Given the description of an element on the screen output the (x, y) to click on. 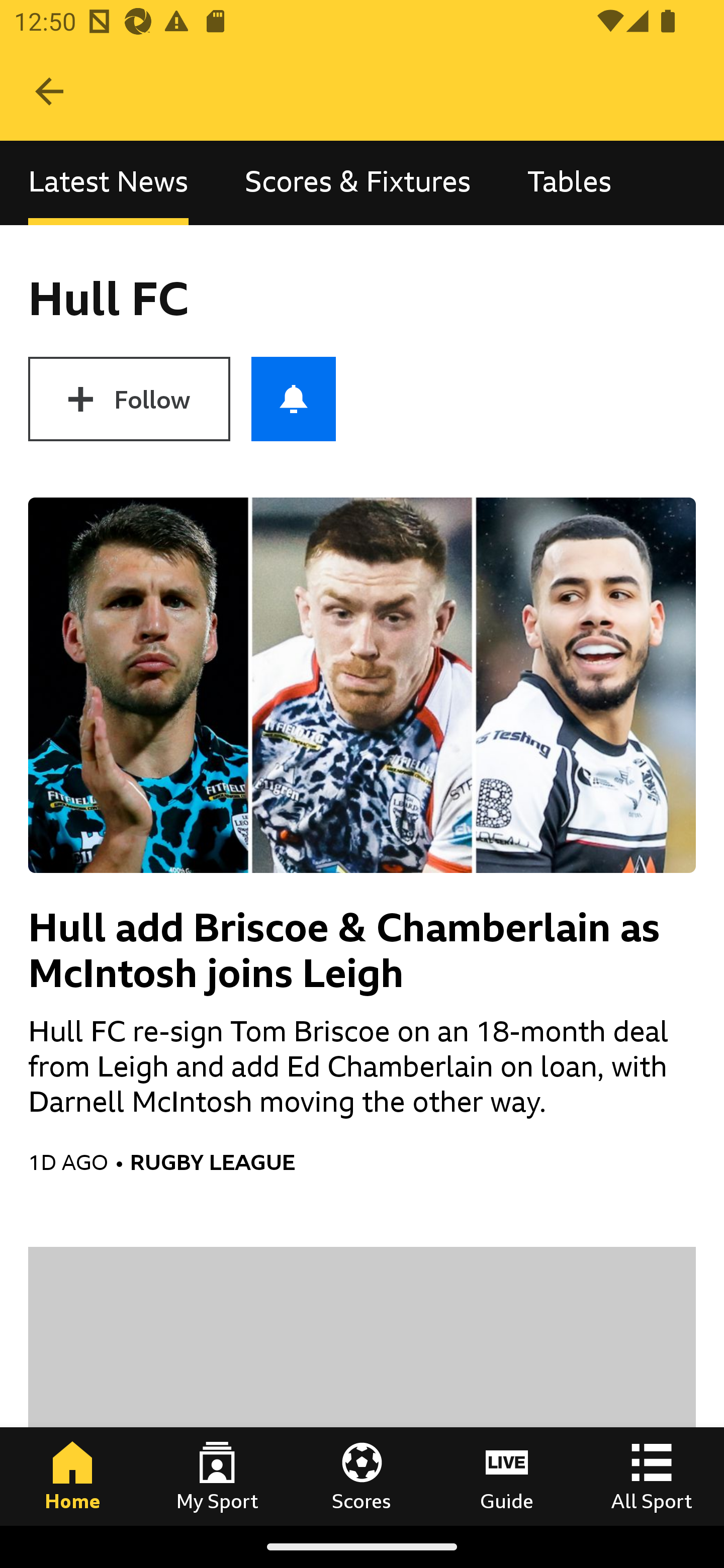
Navigate up (49, 91)
Latest News, selected Latest News (108, 183)
Scores & Fixtures (357, 183)
Tables (569, 183)
Follow Hull FC Follow (129, 398)
Push notifications for Hull FC (293, 398)
My Sport (216, 1475)
Scores (361, 1475)
Guide (506, 1475)
All Sport (651, 1475)
